Given the description of an element on the screen output the (x, y) to click on. 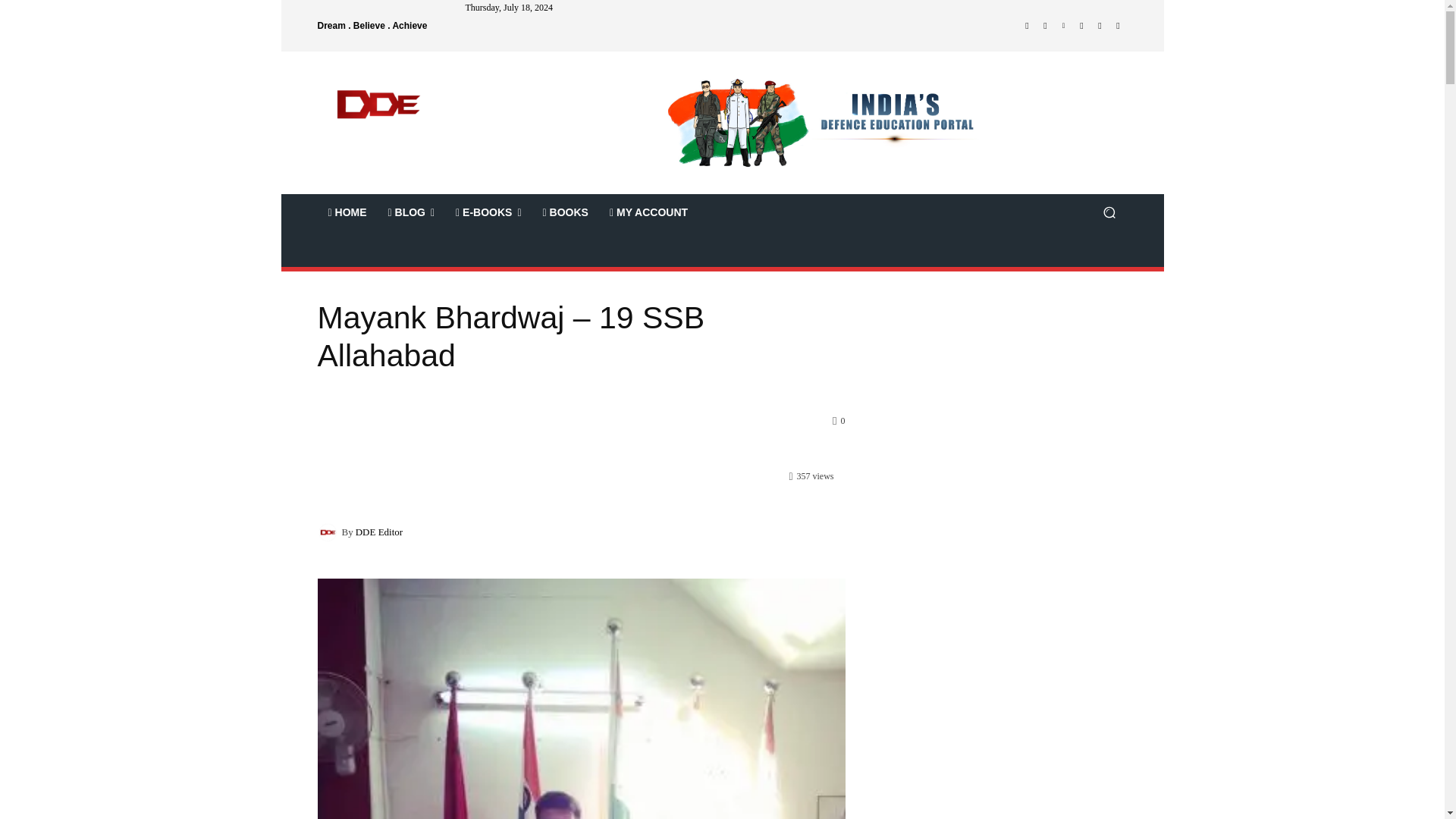
BLOG (411, 212)
E-BOOKS (488, 212)
Facebook (1026, 25)
Youtube (1117, 25)
Instagram (1044, 25)
Telegram (1080, 25)
Pinterest (1062, 25)
DDE editor (328, 531)
HOME (347, 212)
Twitter (1099, 25)
